Given the description of an element on the screen output the (x, y) to click on. 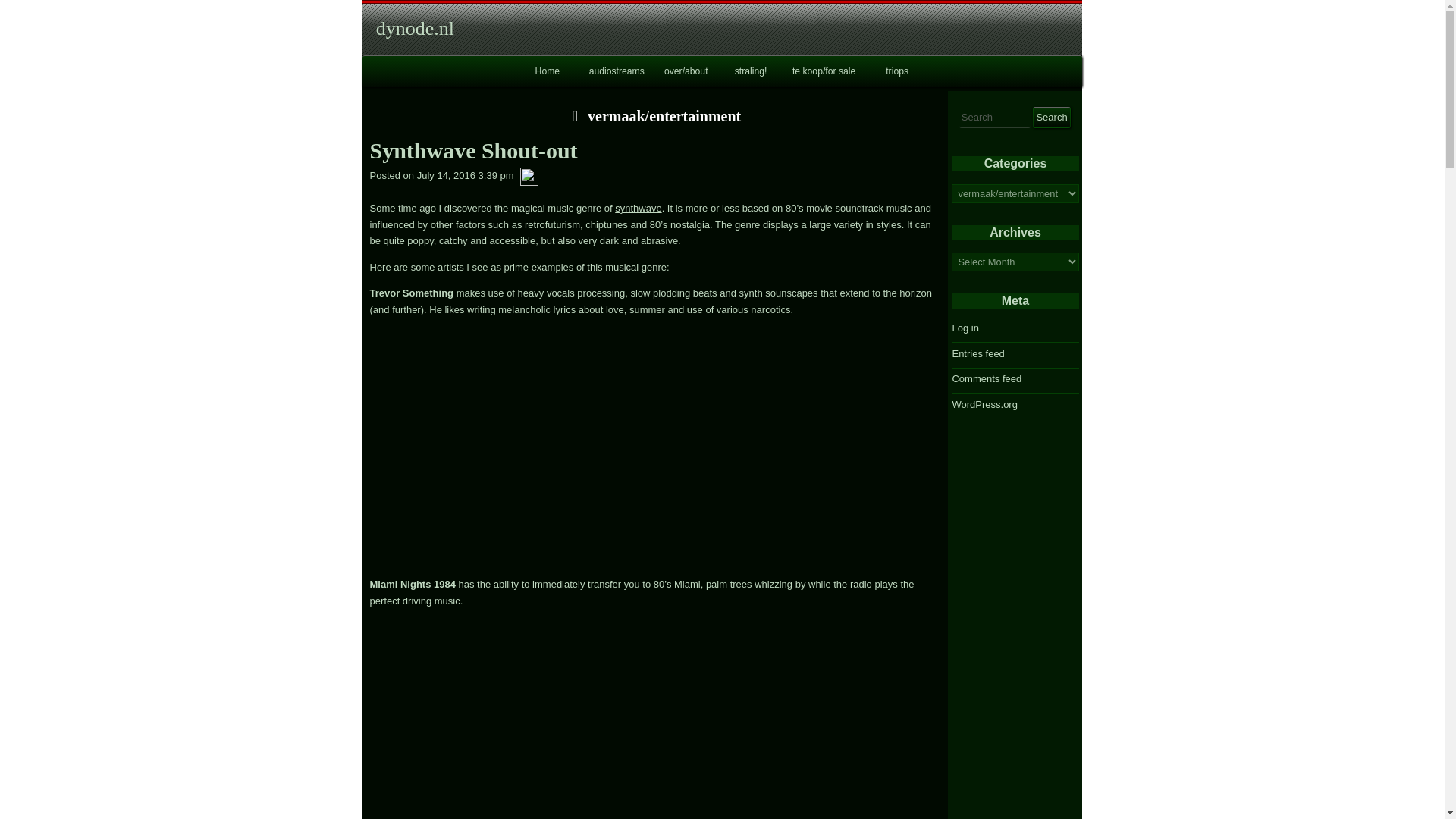
Trevor Something (411, 292)
Johan (528, 174)
Synthwave Shout-out (656, 151)
Miami Nights 1984 (413, 583)
audiostreams (616, 71)
dynode.nl (414, 28)
Search (1051, 117)
synthwave (637, 207)
straling! (750, 71)
triops (896, 71)
July 14, 2016 3:39 pm (464, 174)
Home (547, 71)
